Given the description of an element on the screen output the (x, y) to click on. 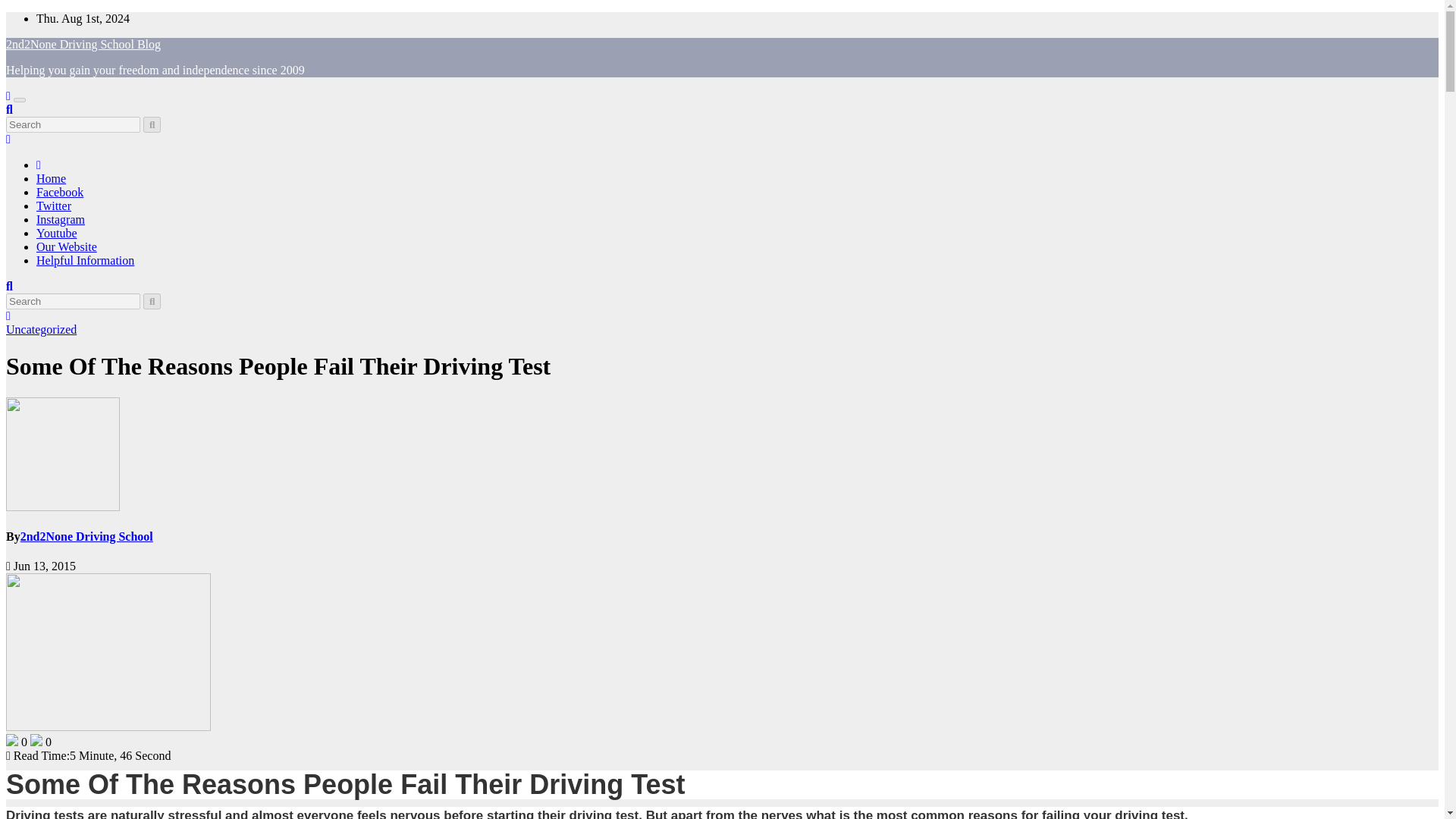
2nd2None Driving School (86, 535)
Instagram (60, 219)
Helpful Information (84, 259)
Instagram (60, 219)
Our Website (66, 246)
Youtube (56, 232)
Youtube (56, 232)
Facebook (59, 192)
Twitter (53, 205)
Home (50, 178)
Some Of The Reasons People Fail Their Driving Test (277, 366)
Home (50, 178)
Twitter (53, 205)
